Given the description of an element on the screen output the (x, y) to click on. 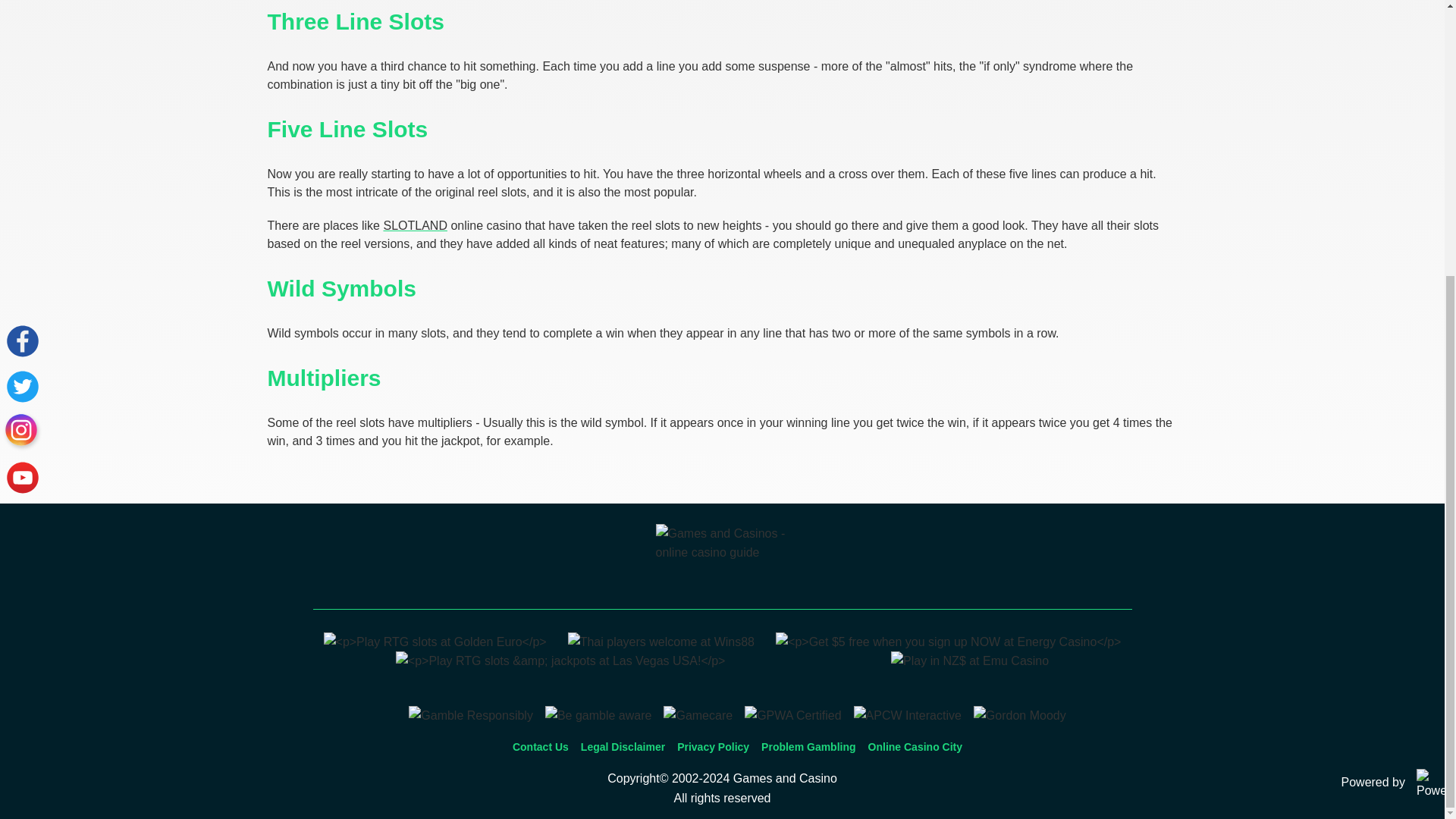
Wins88 Casino (660, 641)
EnergyCasino (948, 641)
Golden Euro Casino (435, 641)
EmuCasino (969, 660)
Las Vegas USA Casino (560, 660)
Games and Casinos - online casino guide (722, 561)
